Given the description of an element on the screen output the (x, y) to click on. 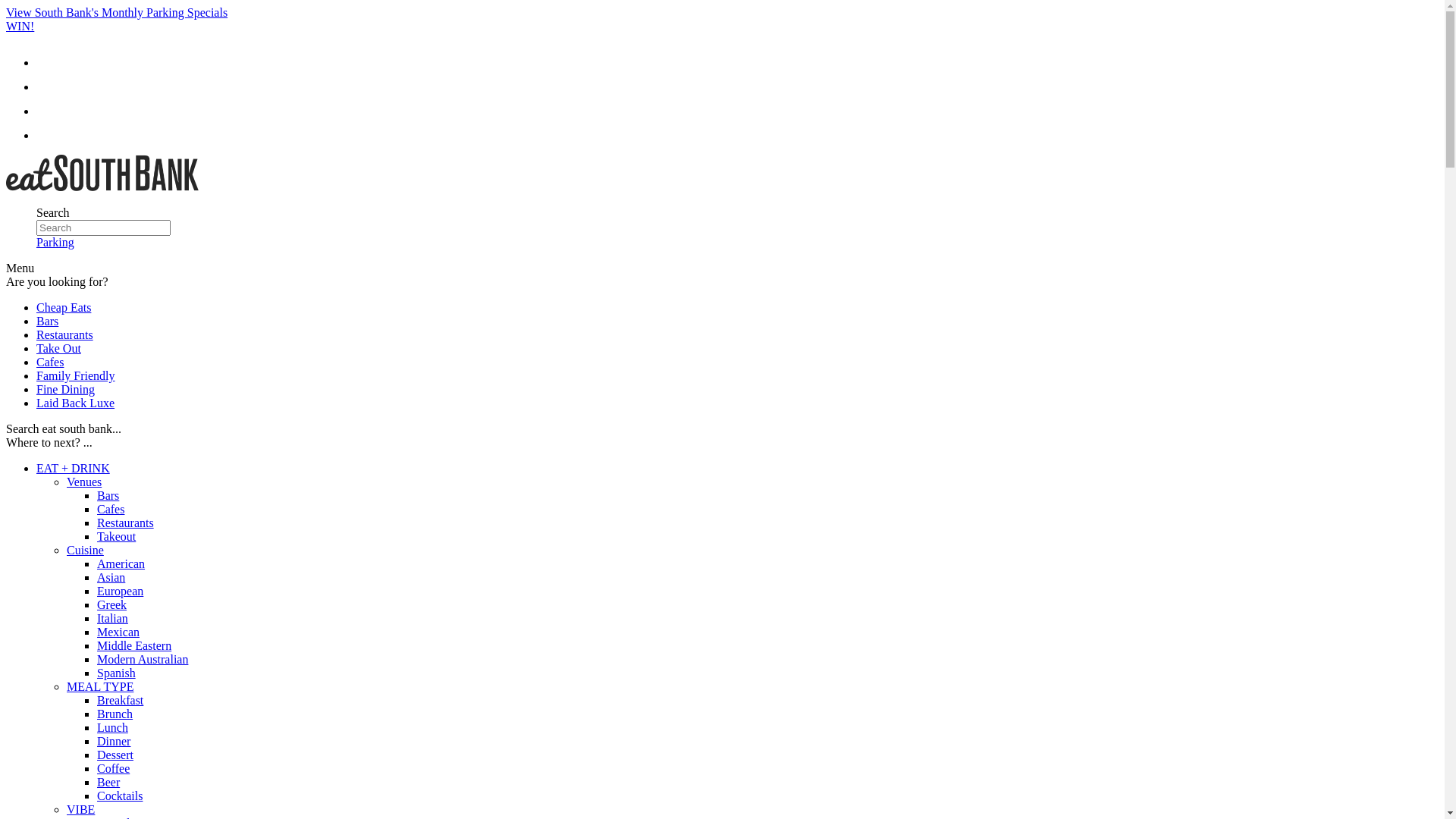
Dinner Element type: text (113, 740)
Spanish Element type: text (116, 672)
Greek Element type: text (111, 604)
Family Friendly Element type: text (75, 375)
Bars Element type: text (47, 320)
Italian Element type: text (112, 617)
EAT + DRINK Element type: text (72, 467)
Dessert Element type: text (115, 754)
Modern Australian Element type: text (142, 658)
Restaurants Element type: text (64, 334)
Cuisine Element type: text (84, 549)
Mexican Element type: text (118, 631)
MEAL TYPE Element type: text (99, 686)
Venues Element type: text (83, 481)
View South Bank's Monthly Parking Specials Element type: text (116, 12)
Laid Back Luxe Element type: text (75, 402)
European Element type: text (120, 590)
Brunch Element type: text (114, 713)
Cafes Element type: text (110, 508)
VIBE Element type: text (80, 809)
American Element type: text (120, 563)
Fine Dining Element type: text (65, 388)
Bars Element type: text (108, 495)
Asian Element type: text (111, 577)
Cheap Eats Element type: text (63, 307)
WIN! Element type: text (20, 25)
Beer Element type: text (108, 781)
Cocktails Element type: text (119, 795)
Restaurants Element type: text (125, 522)
Cafes Element type: text (49, 361)
Lunch Element type: text (112, 727)
Coffee Element type: text (113, 768)
Breakfast Element type: text (120, 699)
Take Out Element type: text (58, 348)
Middle Eastern Element type: text (134, 645)
Parking Element type: text (55, 241)
Takeout Element type: text (116, 536)
